Given the description of an element on the screen output the (x, y) to click on. 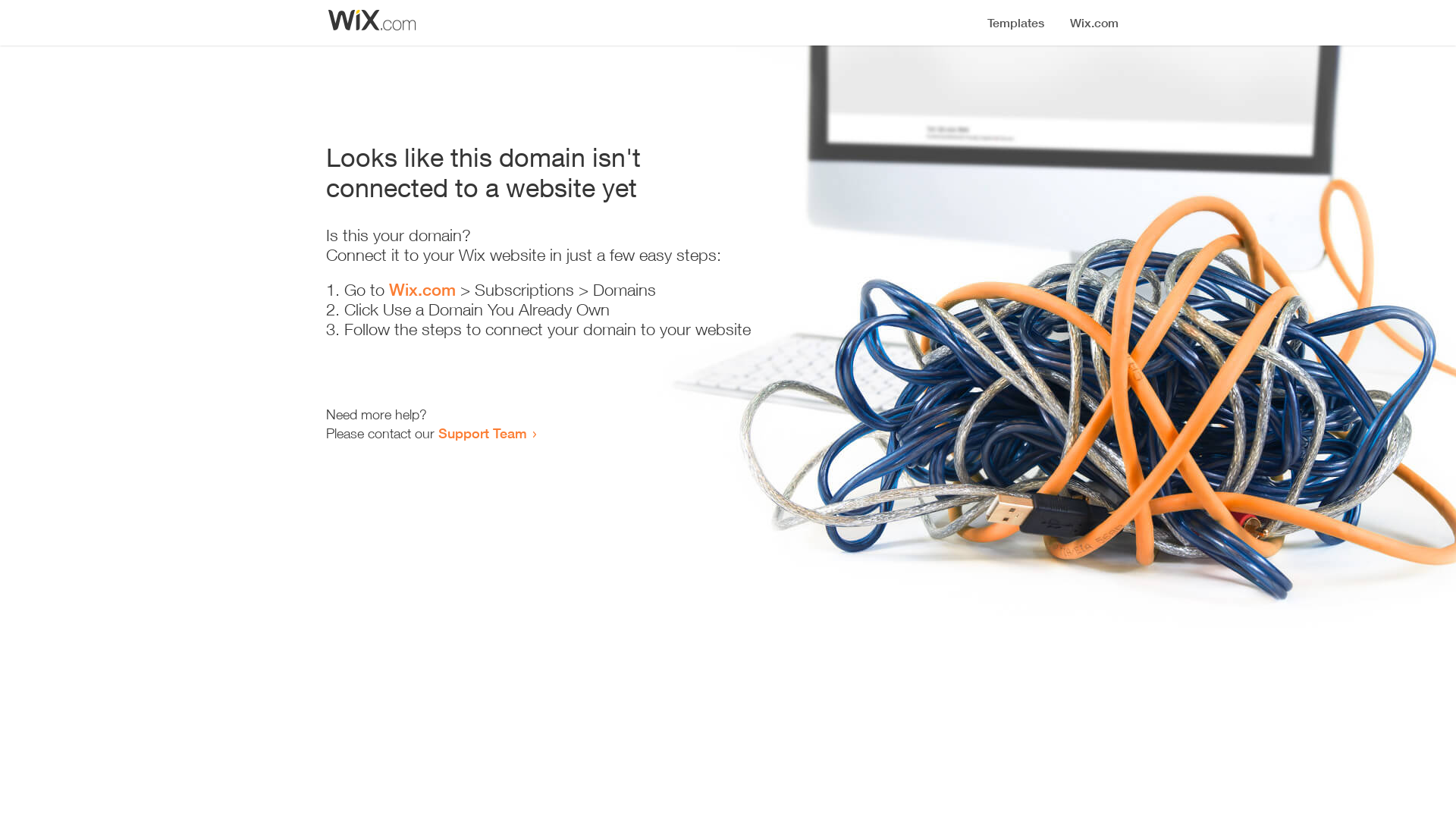
Support Team Element type: text (482, 432)
Wix.com Element type: text (422, 289)
